Given the description of an element on the screen output the (x, y) to click on. 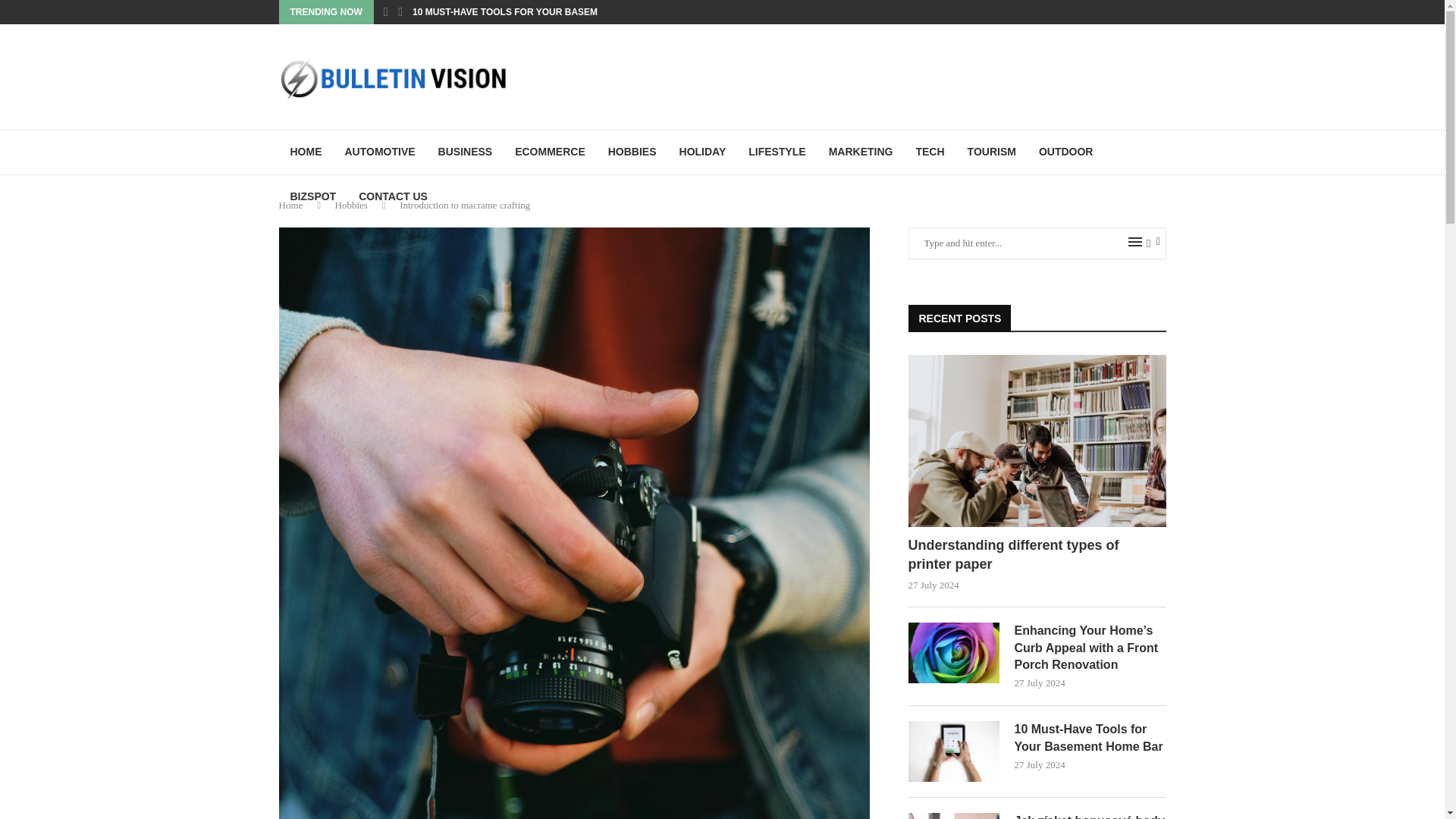
CONTACT US (393, 197)
BUSINESS (464, 152)
MARKETING (860, 152)
10 Must-Have Tools for Your Basement Home Bar (1090, 738)
Understanding different types of printer paper (1037, 555)
Understanding different types of printer paper (1037, 440)
10 Must-Have Tools for Your Basement Home Bar (953, 751)
HOME (306, 152)
OUTDOOR (1066, 152)
HOBBIES (632, 152)
TOURISM (991, 152)
ECOMMERCE (549, 152)
AUTOMOTIVE (379, 152)
10 MUST-HAVE TOOLS FOR YOUR BASEMENT HOME BAR (540, 12)
